Given the description of an element on the screen output the (x, y) to click on. 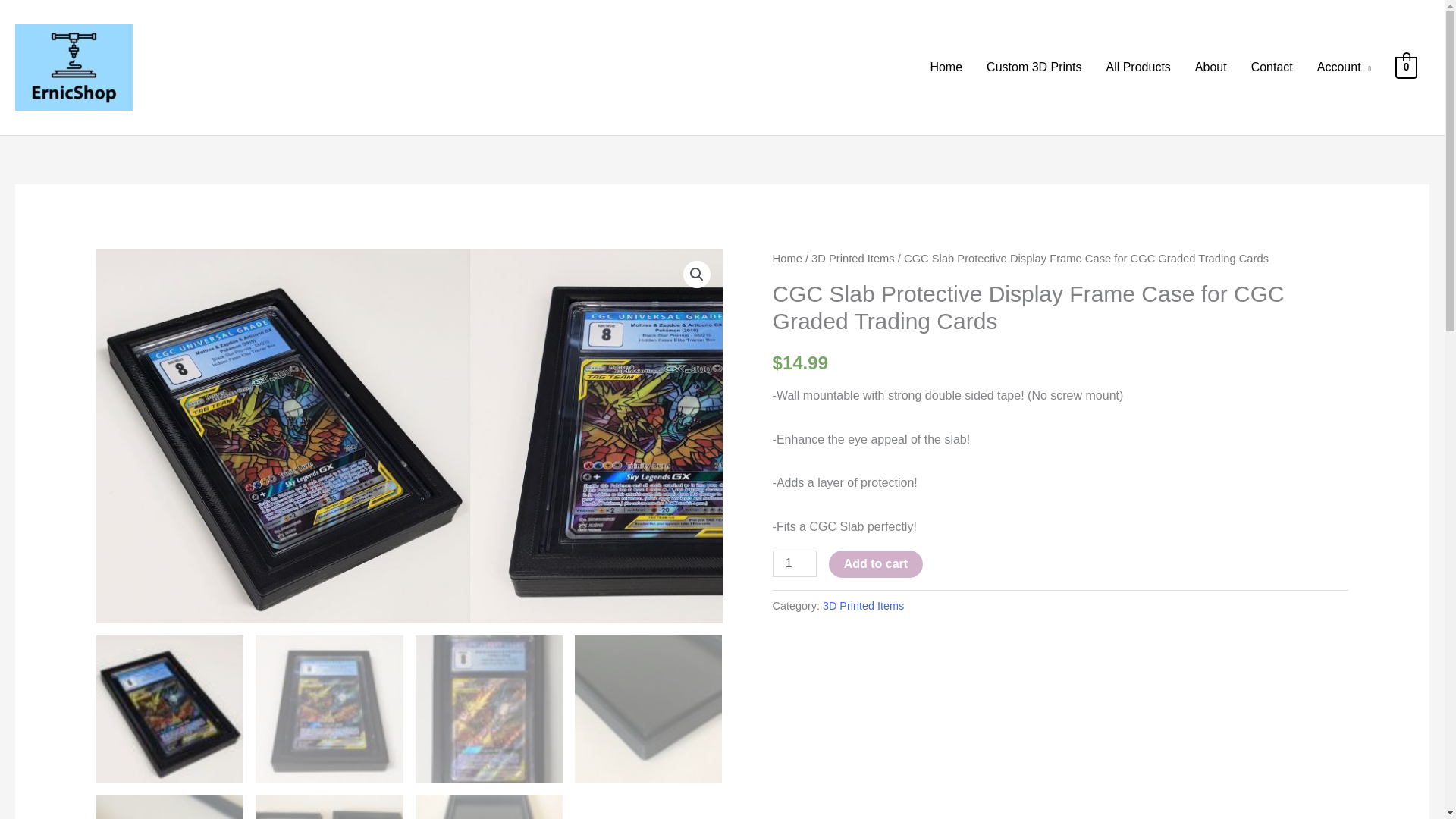
All Products (1137, 67)
About (1210, 67)
Home (787, 258)
3D Printed Items (852, 258)
Add to cart (875, 564)
1 (794, 563)
Qty (794, 563)
Contact (1271, 67)
Home (945, 67)
